Given the description of an element on the screen output the (x, y) to click on. 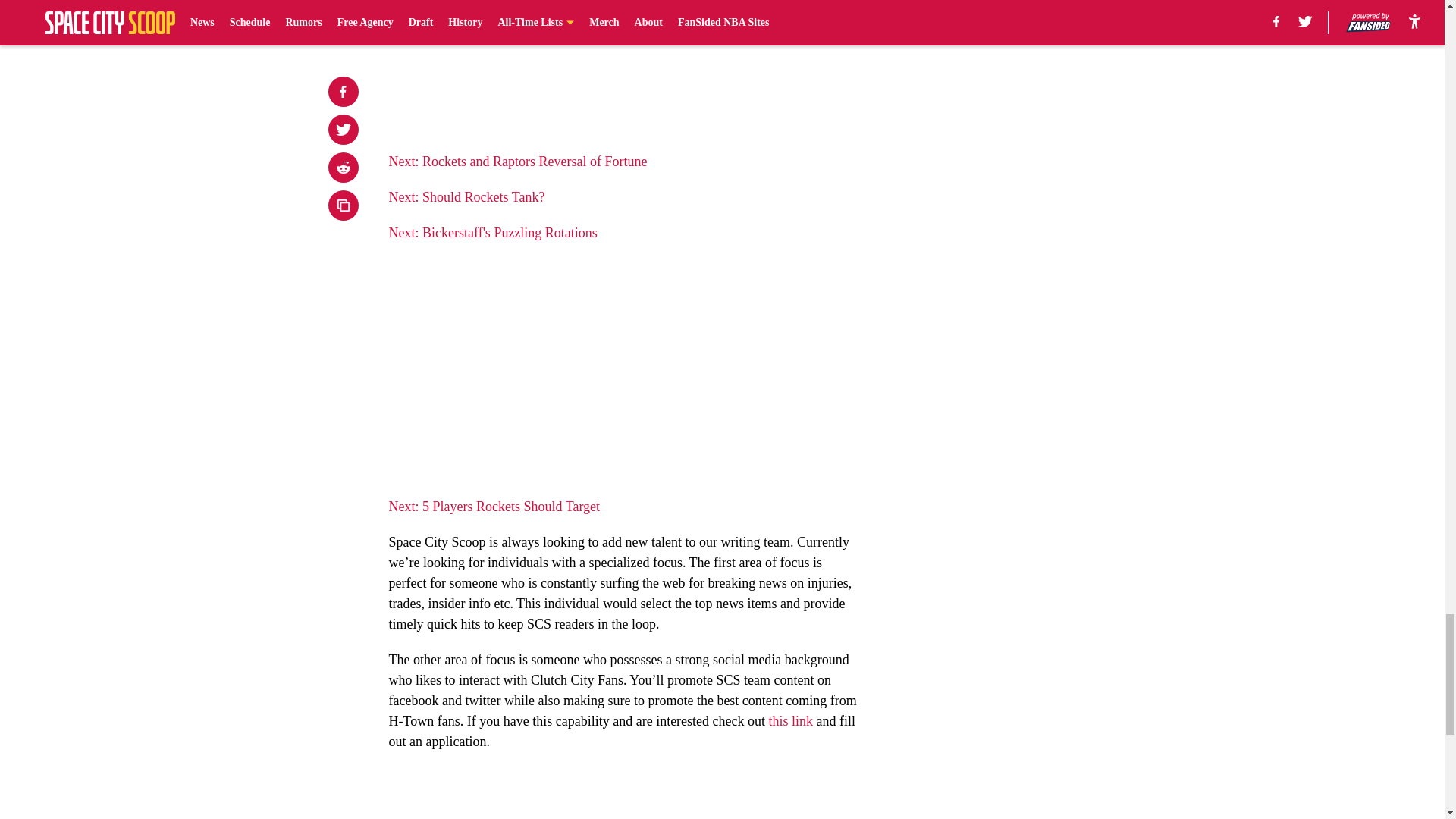
this link (790, 720)
Next: Should Rockets Tank? (466, 196)
Next: Rockets and Raptors Reversal of Fortune (517, 160)
Next: 5 Players Rockets Should Target (493, 506)
Next: Bickerstaff's Puzzling Rotations (492, 232)
